Given the description of an element on the screen output the (x, y) to click on. 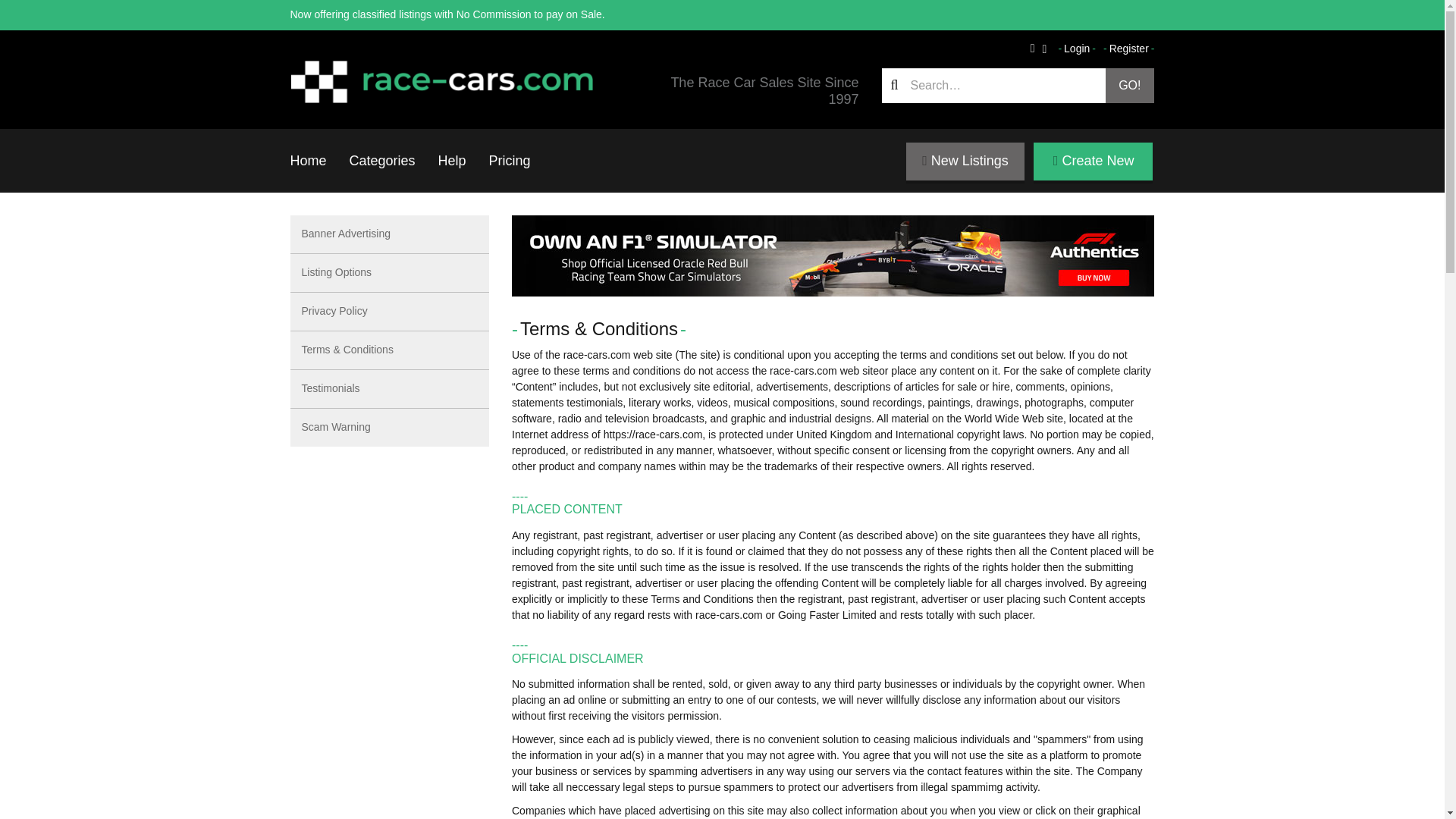
Home (308, 160)
GO! (1129, 85)
Scam Warning (389, 427)
Listing Options (389, 272)
Categories (381, 160)
Register (1128, 48)
Testimonials (389, 389)
Own an F1 Simulator  (833, 255)
New Listings (965, 161)
Banner Advertising (389, 234)
Create New (1093, 161)
Privacy Policy (389, 311)
Pricing (509, 160)
Login (1077, 48)
